Given the description of an element on the screen output the (x, y) to click on. 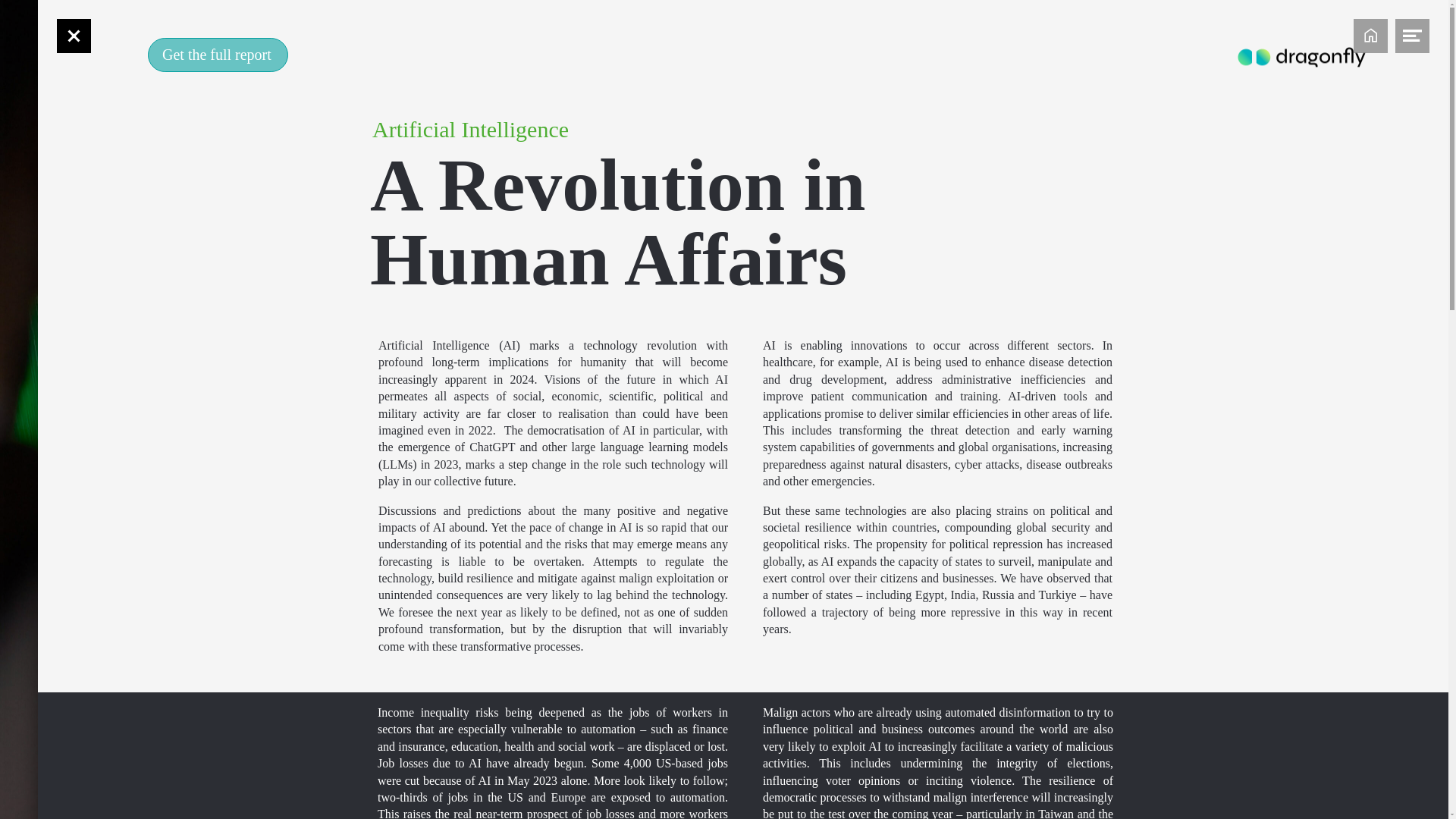
Open menu (1411, 35)
Home (1370, 35)
